Given the description of an element on the screen output the (x, y) to click on. 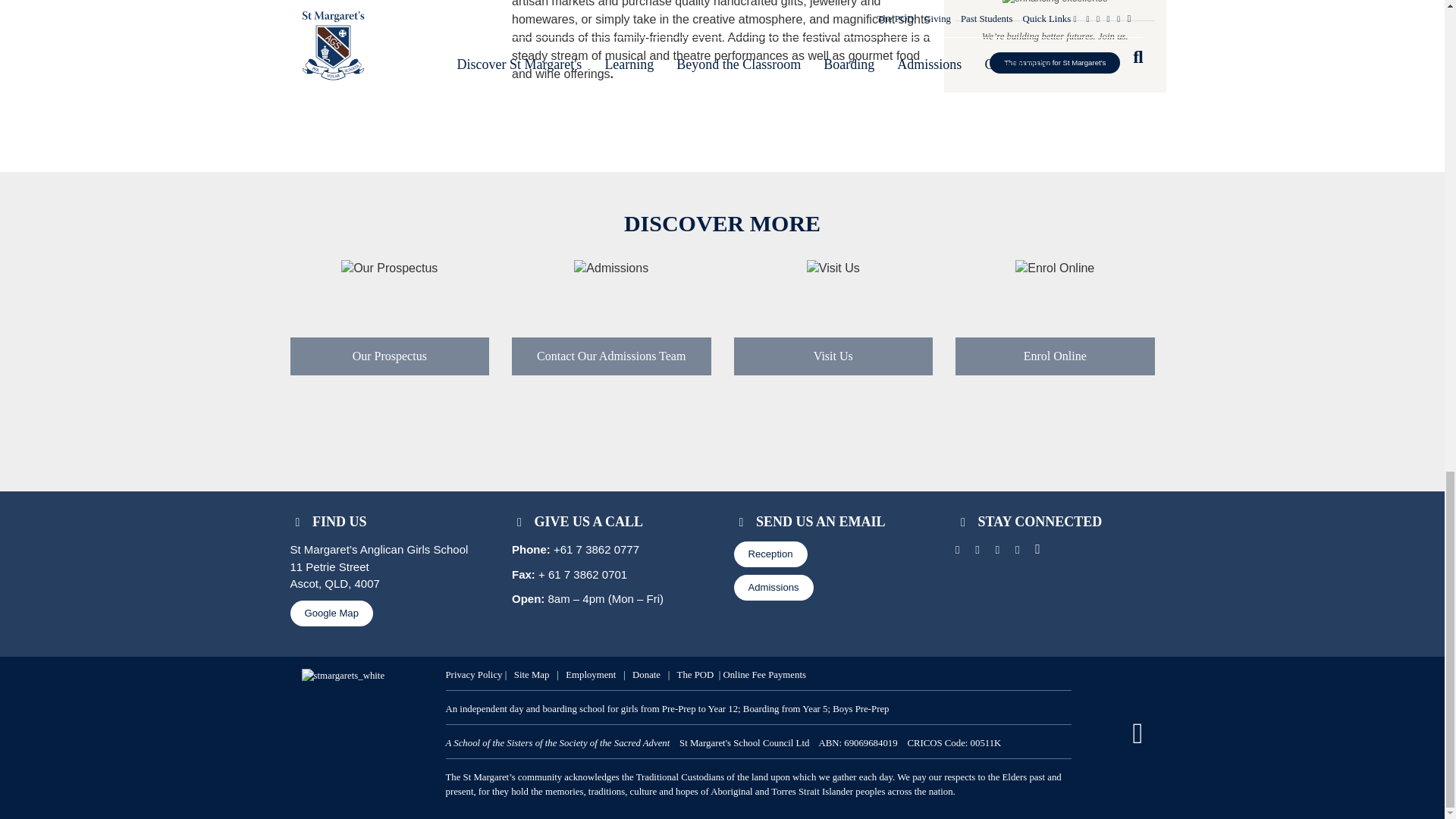
Open in Google Maps (330, 613)
